Given the description of an element on the screen output the (x, y) to click on. 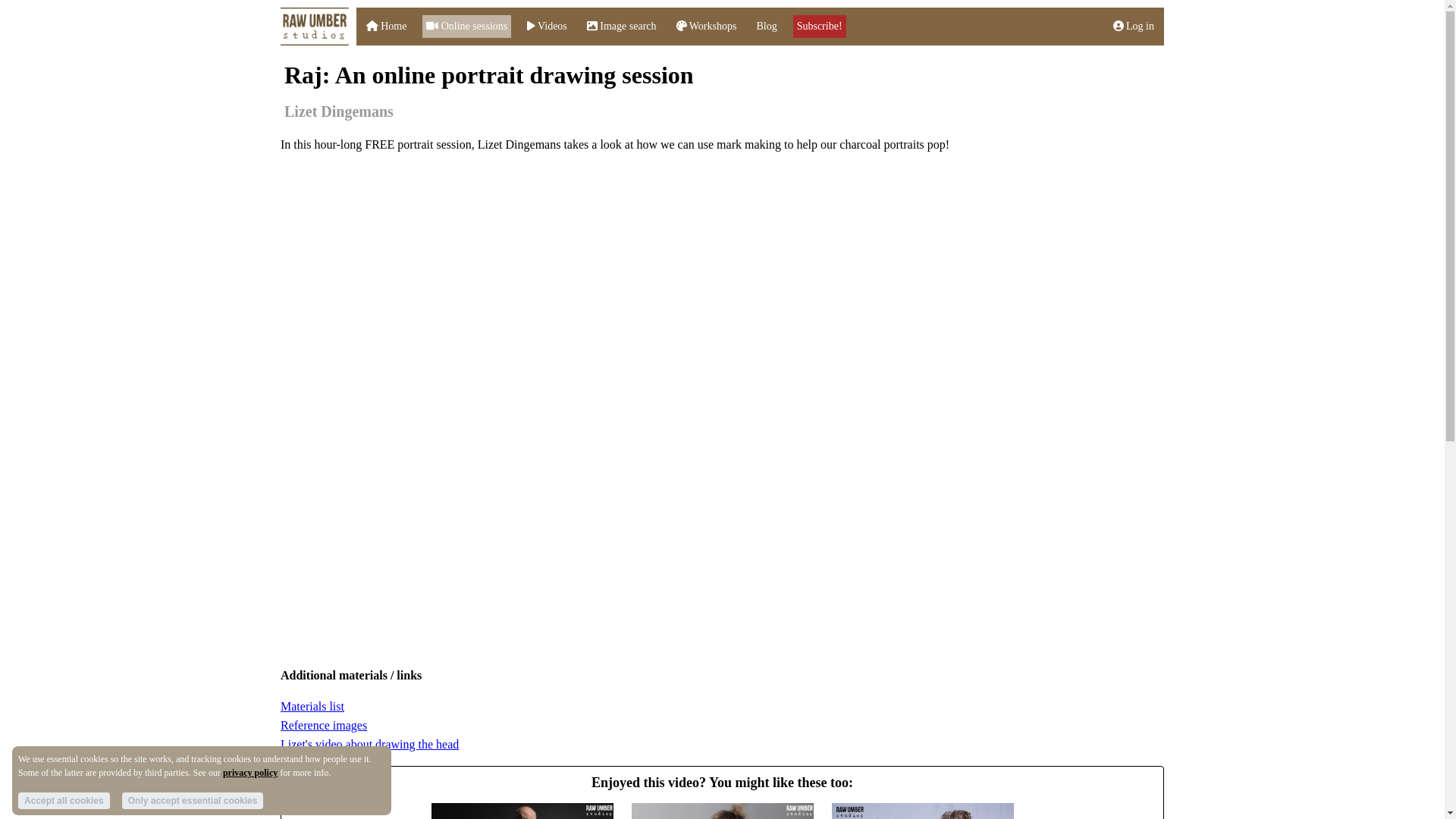
Materials list (312, 706)
Log in (1133, 26)
Videos (547, 26)
Subscribe! (819, 26)
Reference images (323, 725)
Workshops (706, 26)
Image search (621, 26)
Lizet's video about drawing the head (369, 744)
Online sessions (466, 26)
Home (386, 26)
Blog (765, 26)
privacy policy (250, 772)
